Given the description of an element on the screen output the (x, y) to click on. 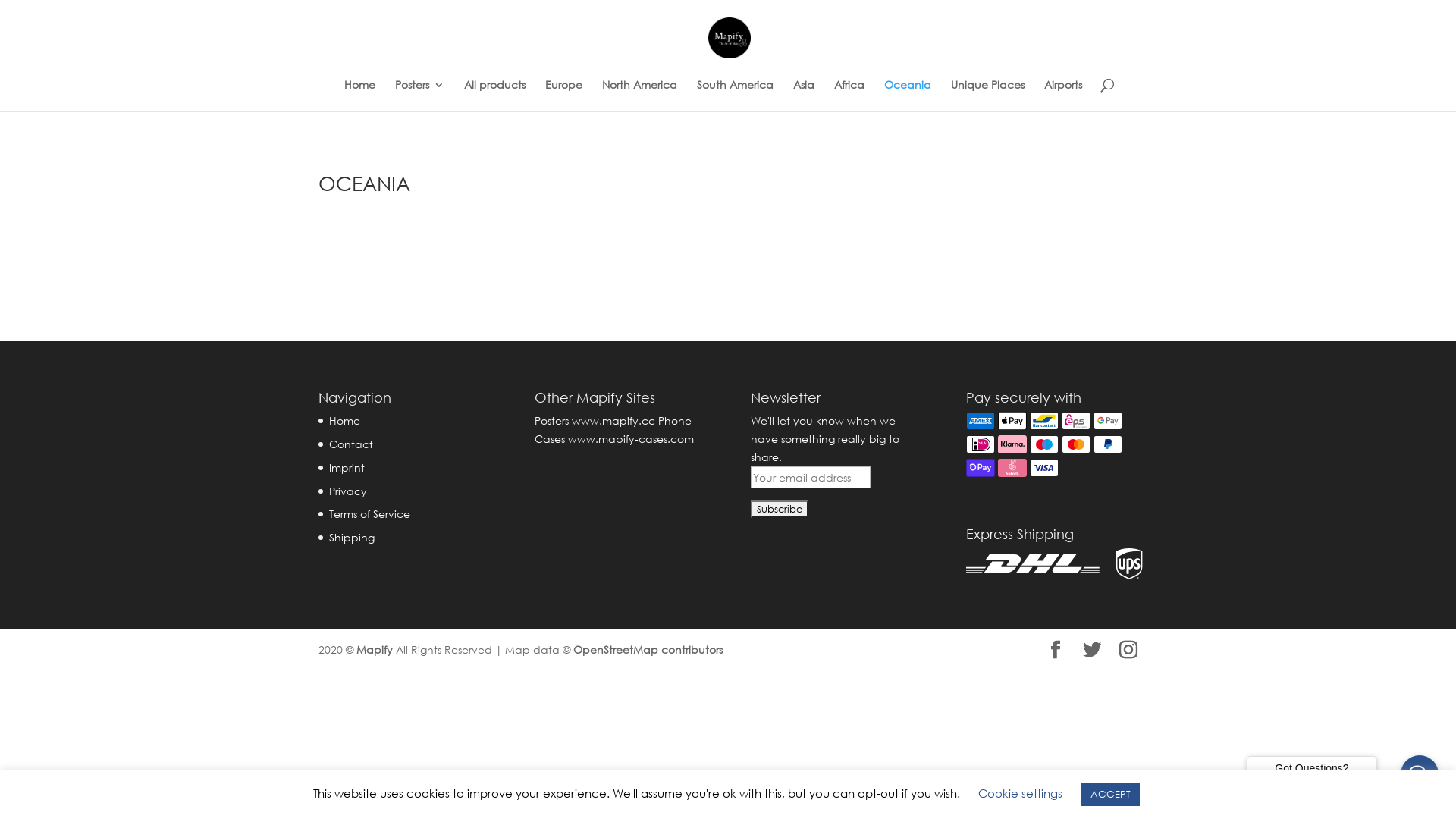
Privacy Element type: text (348, 490)
Imprint Element type: text (346, 467)
North America Element type: text (639, 95)
Oceania Element type: text (907, 95)
Africa Element type: text (849, 95)
Posters Element type: text (418, 95)
Unique Places Element type: text (987, 95)
Terms of Service Element type: text (369, 513)
Cookie settings Element type: text (1020, 792)
Mapify Element type: text (374, 649)
South America Element type: text (734, 95)
Europe Element type: text (562, 95)
Asia Element type: text (803, 95)
Home Element type: text (344, 420)
ACCEPT Element type: text (1110, 794)
Shipping Element type: text (351, 537)
OpenStreetMap contributors Element type: text (647, 649)
www.mapify-cases.com Element type: text (630, 438)
Home Element type: text (359, 95)
Contact Element type: text (351, 443)
www.mapify.cc Element type: text (613, 420)
All products Element type: text (494, 95)
Subscribe Element type: text (779, 508)
Airports Element type: text (1062, 95)
